Given the description of an element on the screen output the (x, y) to click on. 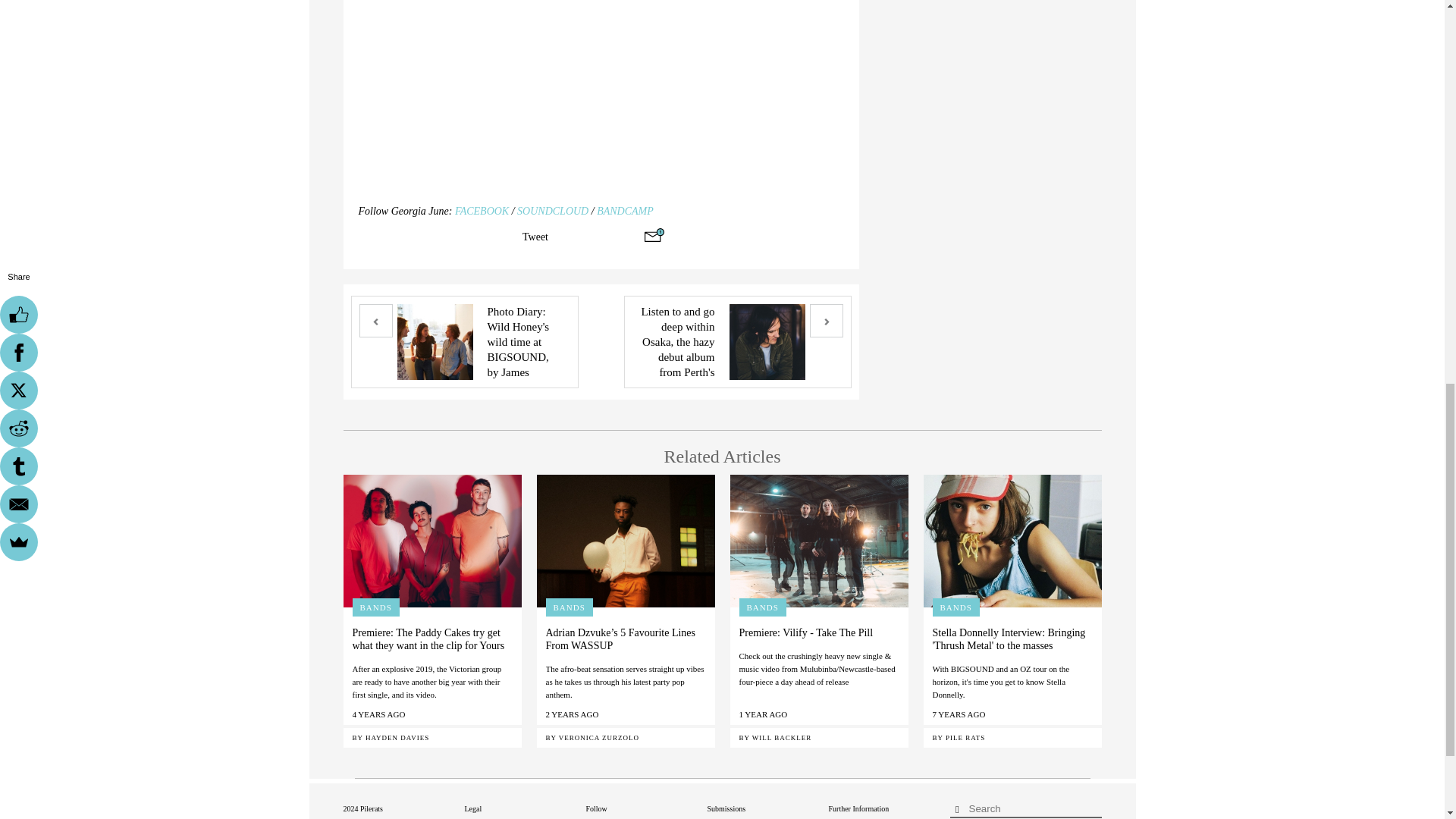
Share via email (654, 234)
